Given the description of an element on the screen output the (x, y) to click on. 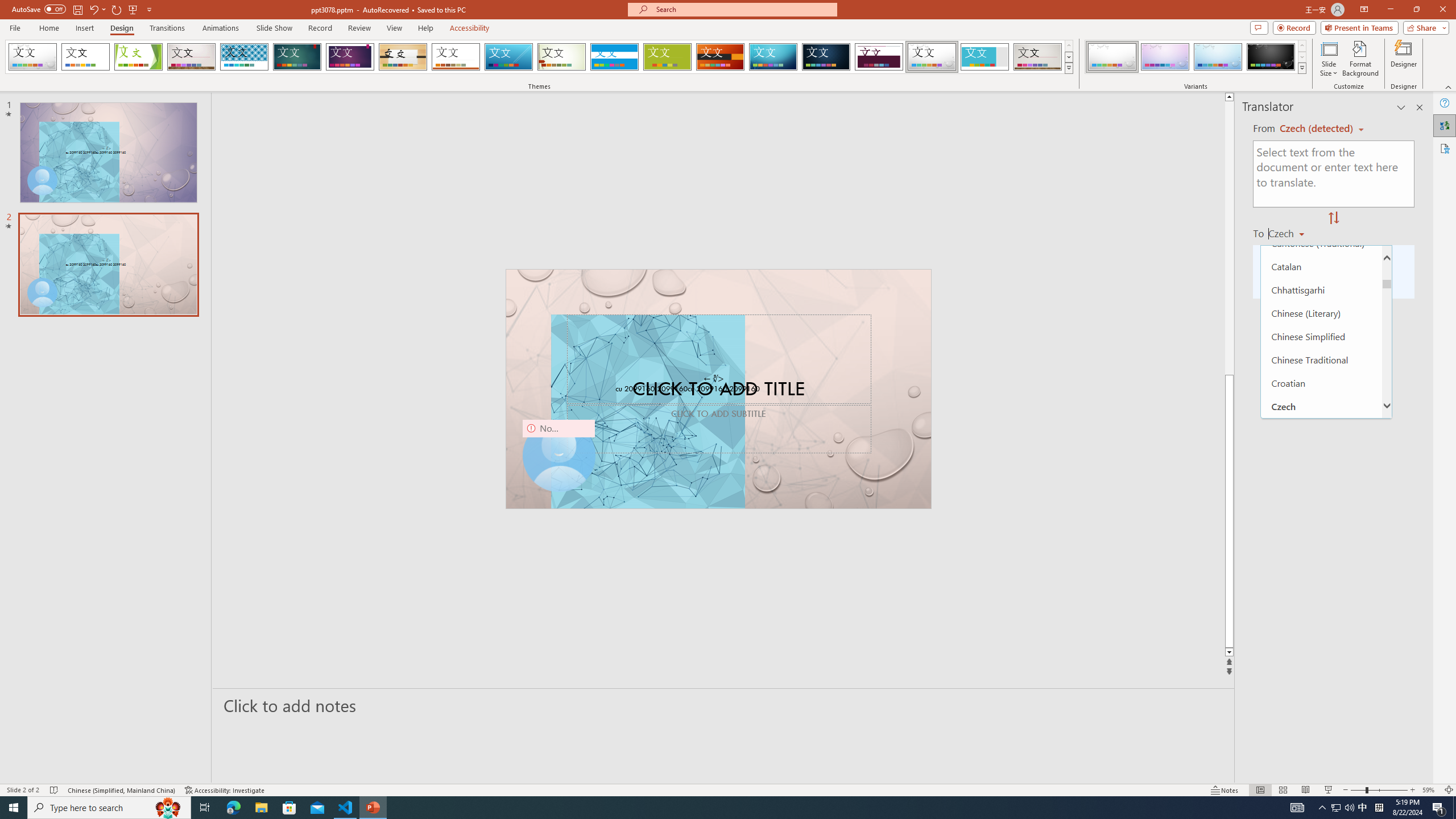
Estonian (1320, 568)
Divehi (1320, 475)
Danish (1320, 428)
Themes (1068, 67)
Ganda (1320, 755)
Chinese (Literary) (1320, 313)
